Given the description of an element on the screen output the (x, y) to click on. 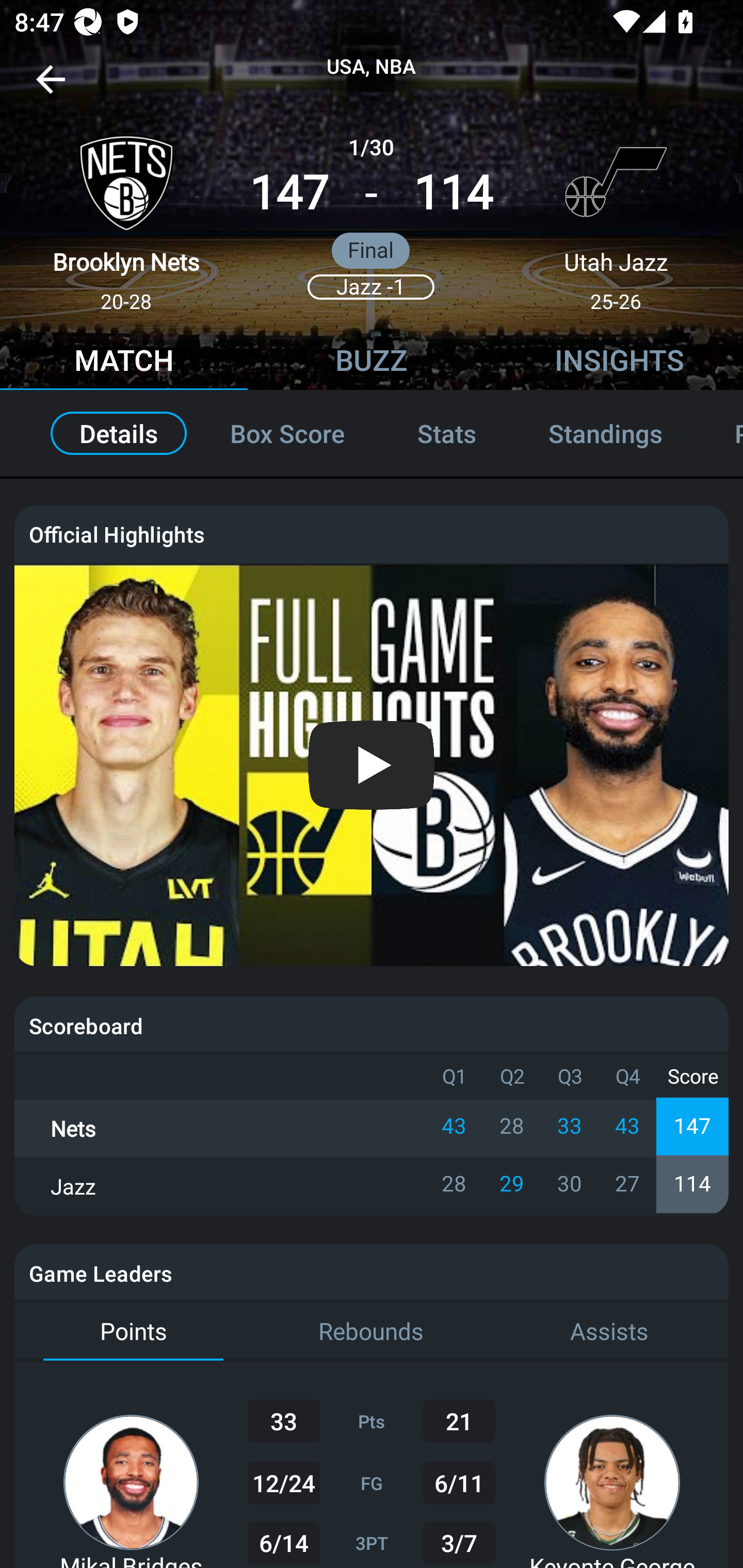
Navigate up (50, 86)
USA, NBA (371, 66)
Brooklyn Nets 20-28 (126, 214)
Utah Jazz 25-26 (616, 214)
147 (288, 192)
114 (453, 192)
MATCH (123, 362)
BUZZ (371, 362)
INSIGHTS (619, 362)
Box Score (287, 433)
Stats (446, 433)
Standings (605, 433)
Official Highlights (371, 533)
Play (372, 765)
Rebounds (371, 1332)
Assists (609, 1332)
